Given the description of an element on the screen output the (x, y) to click on. 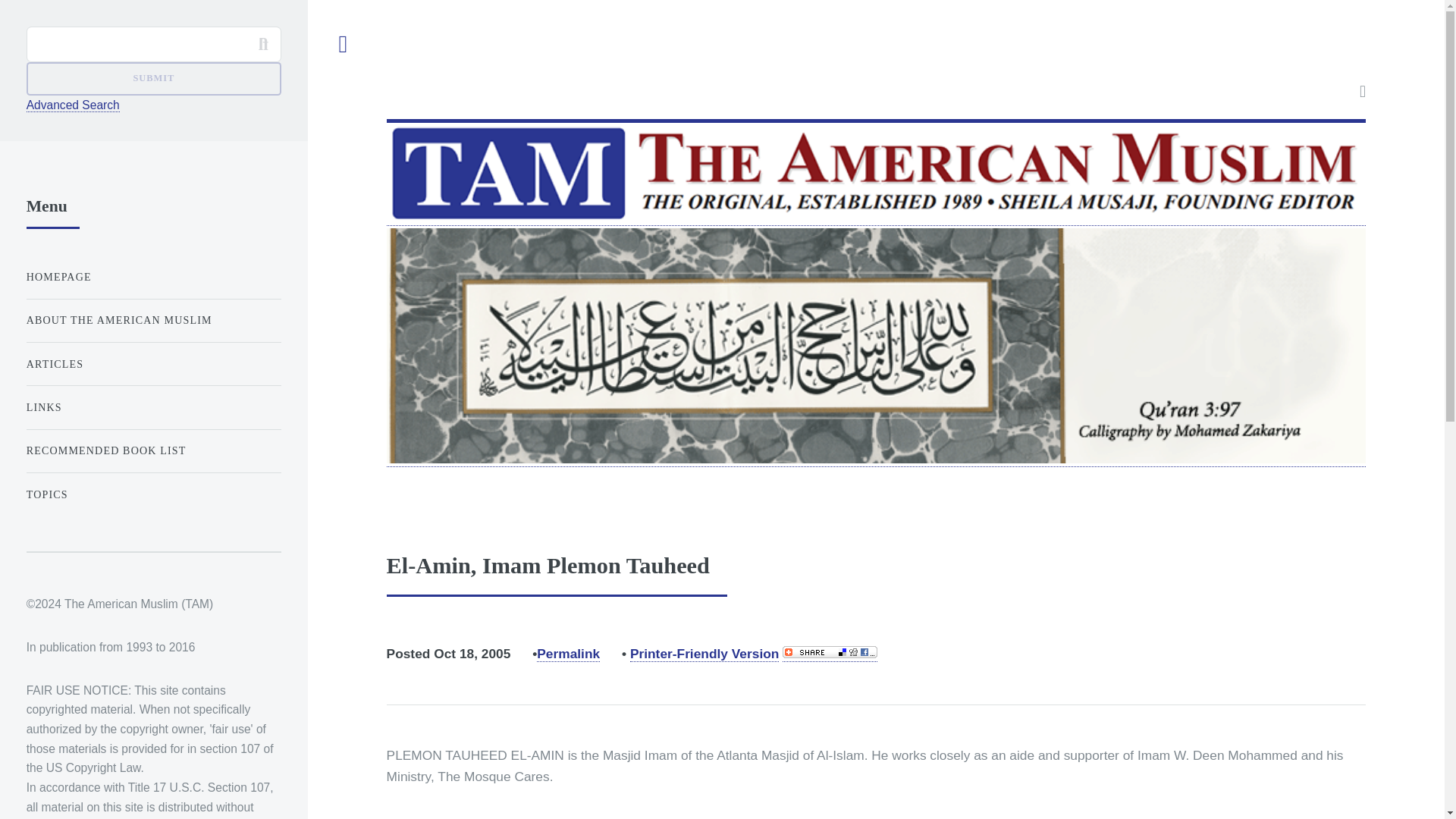
ABOUT THE AMERICAN MUSLIM (153, 320)
LINKS (153, 407)
HOMEPAGE (153, 276)
Advanced Search (72, 105)
submit (153, 78)
TOPICS (153, 494)
submit (153, 78)
ARTICLES (153, 364)
Printer-Friendly Version (704, 653)
RECOMMENDED BOOK LIST  (153, 450)
